Given the description of an element on the screen output the (x, y) to click on. 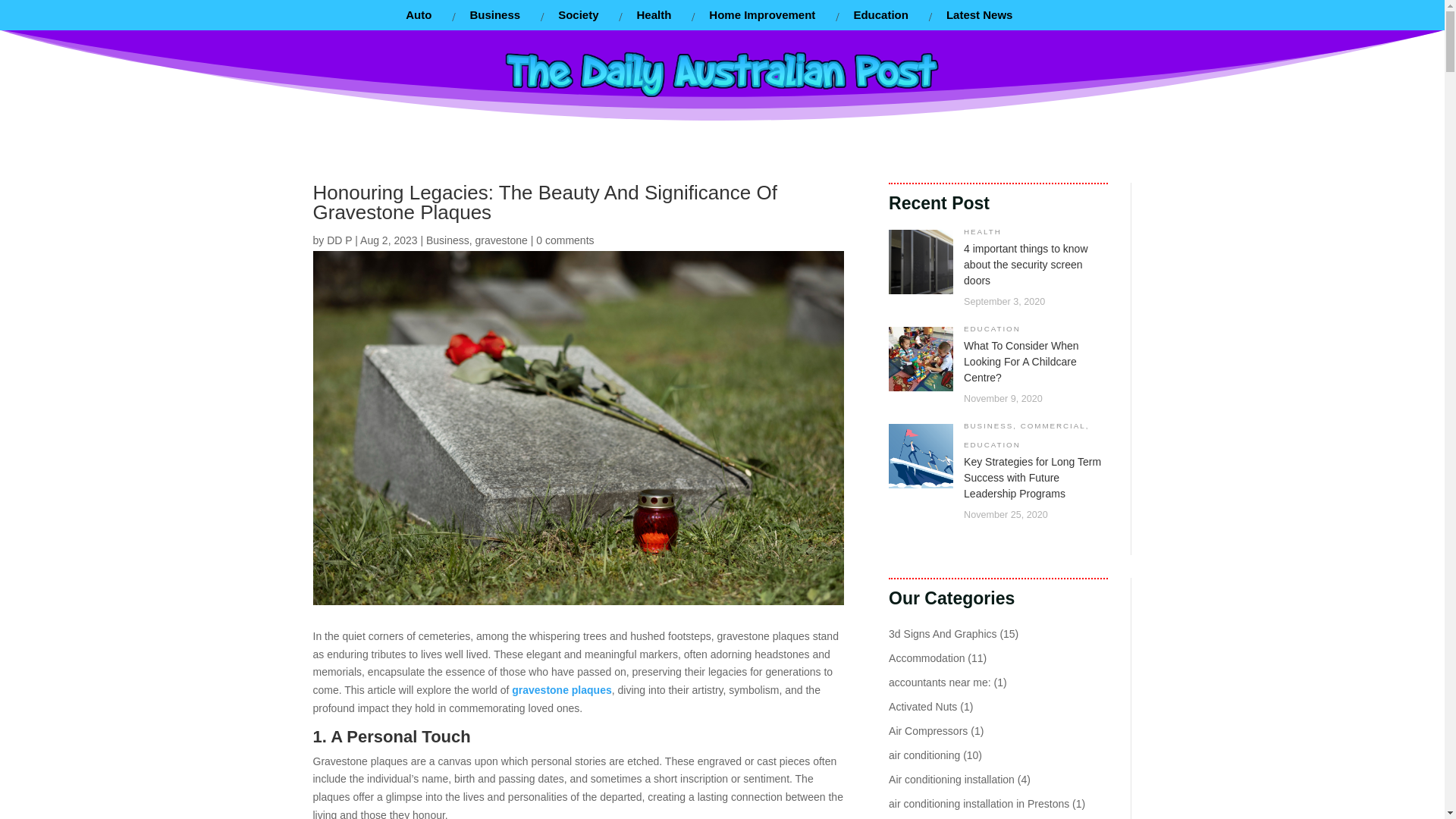
Education (880, 15)
Business (494, 15)
newlogo (722, 73)
accountants near me: (939, 682)
Air Compressors (928, 730)
Air conditioning installation (951, 779)
EDUCATION (991, 328)
September 3, 2020 (1004, 301)
Home Improvement (762, 15)
Latest News (979, 15)
